Given the description of an element on the screen output the (x, y) to click on. 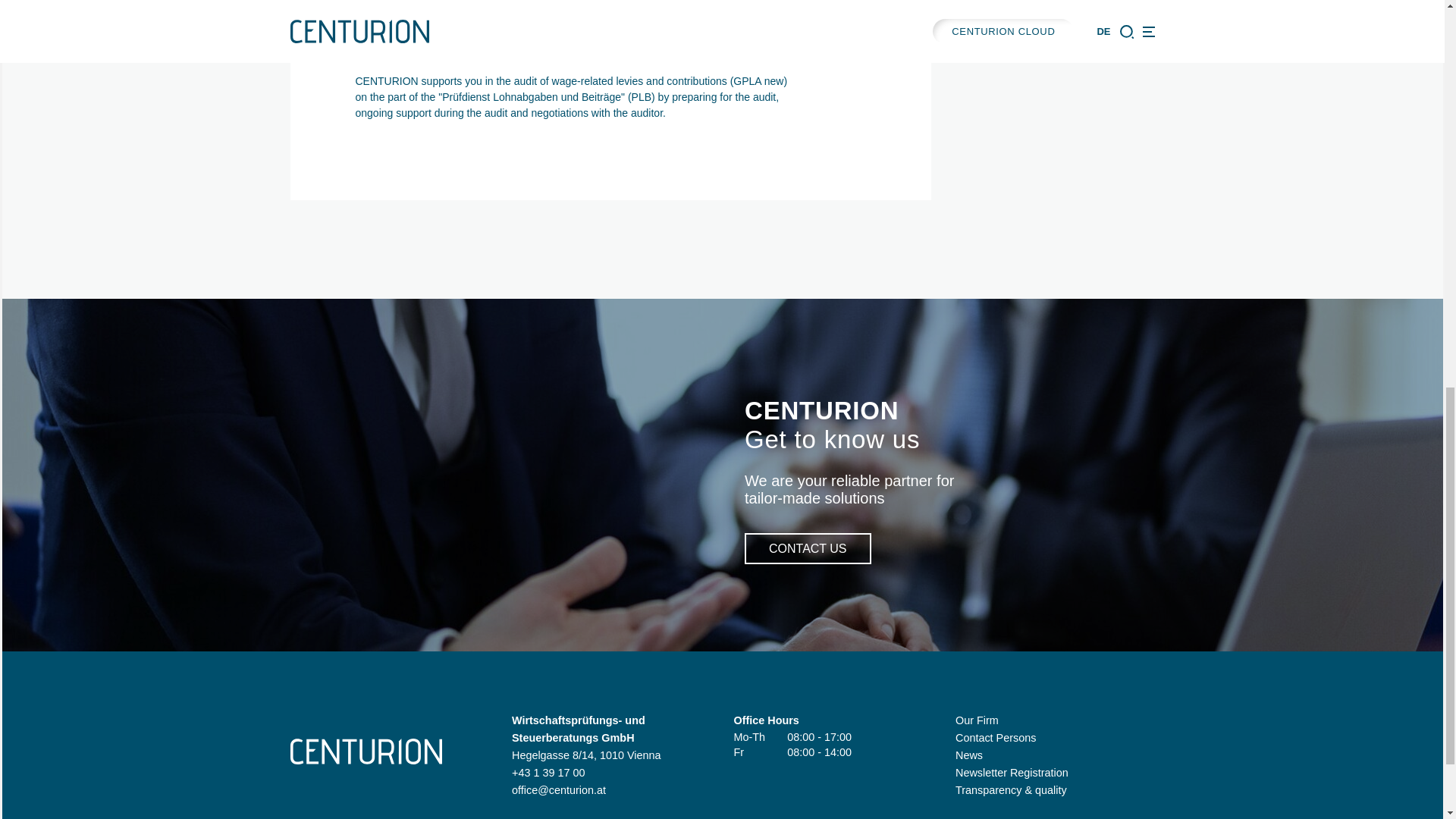
Newsletter Registration (1011, 772)
Our Firm (976, 720)
News (968, 755)
Newsletter (1011, 772)
Contact Person (995, 737)
Contact Persons (995, 737)
CONTACT US (807, 549)
Our Firm (976, 720)
